Given the description of an element on the screen output the (x, y) to click on. 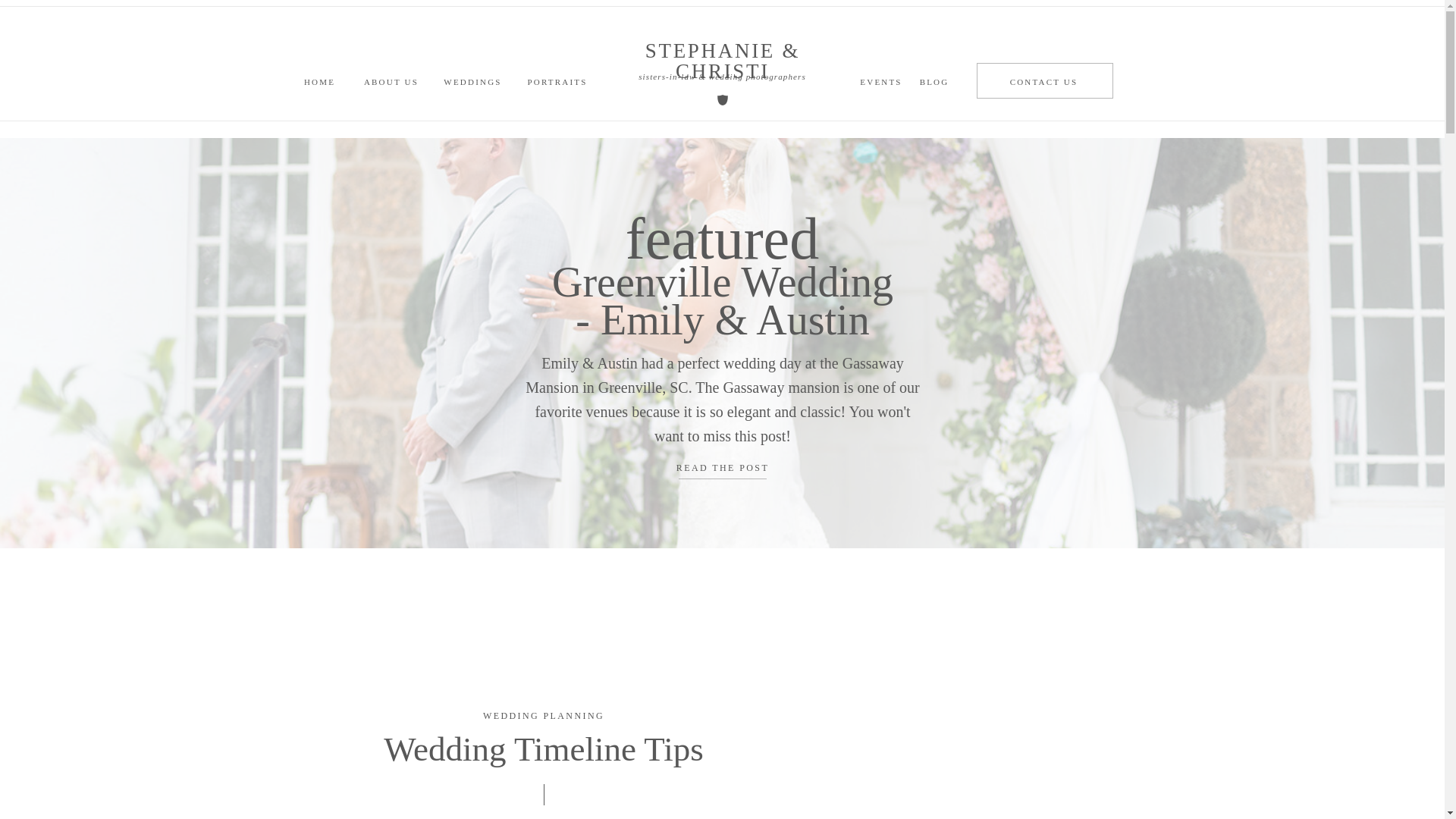
PORTRAITS (556, 80)
HOME (319, 80)
EVENTS (879, 80)
WEDDINGS (472, 80)
BLOG (933, 80)
READ THE POST (722, 468)
CONTACT US (1042, 80)
ABOUT US (390, 80)
